Given the description of an element on the screen output the (x, y) to click on. 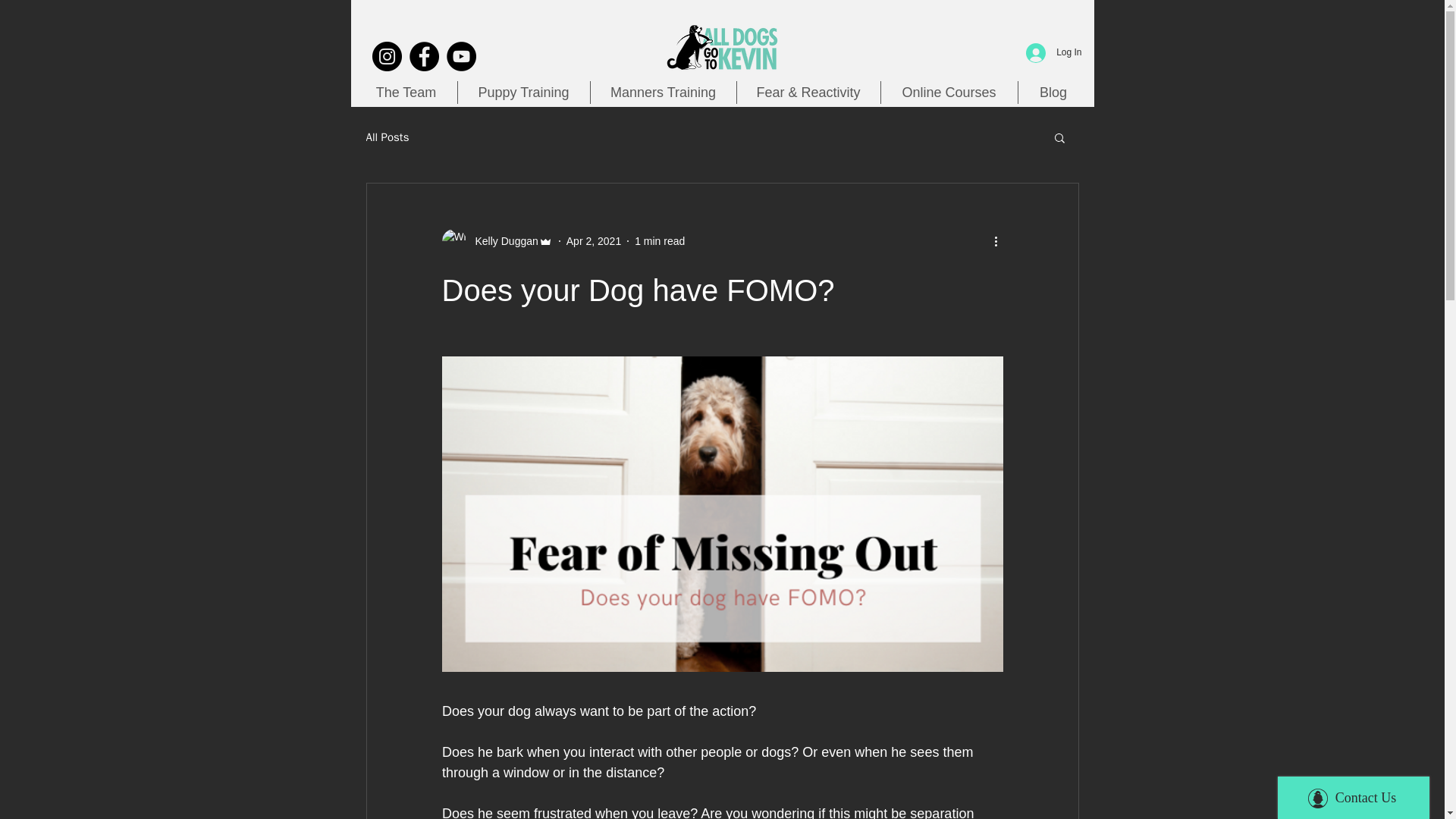
Blog (1053, 92)
The Team (406, 92)
Kelly Duggan (501, 241)
Log In (1053, 51)
Kelly Duggan (496, 241)
All Posts (387, 137)
Apr 2, 2021 (593, 241)
Puppy Training (523, 92)
Manners Training (662, 92)
Online Courses (947, 92)
1 min read (659, 241)
